Given the description of an element on the screen output the (x, y) to click on. 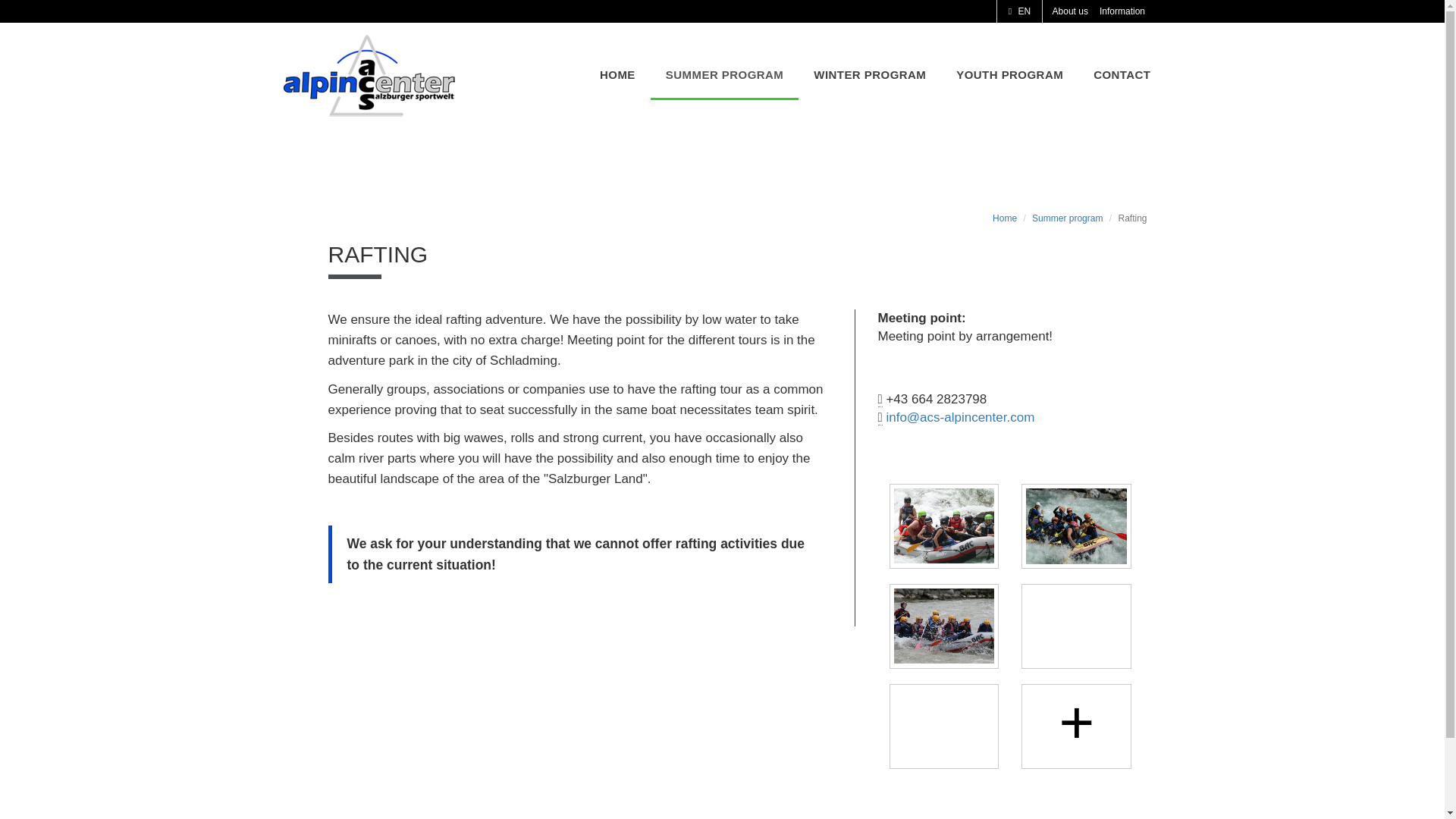
CONTACT (1122, 74)
YOUTH PROGRAM (1009, 74)
SUMMER PROGRAM (723, 74)
WINTER PROGRAM (868, 74)
About us (1069, 11)
EN (1019, 11)
Information (1121, 11)
HOME (617, 74)
